Given the description of an element on the screen output the (x, y) to click on. 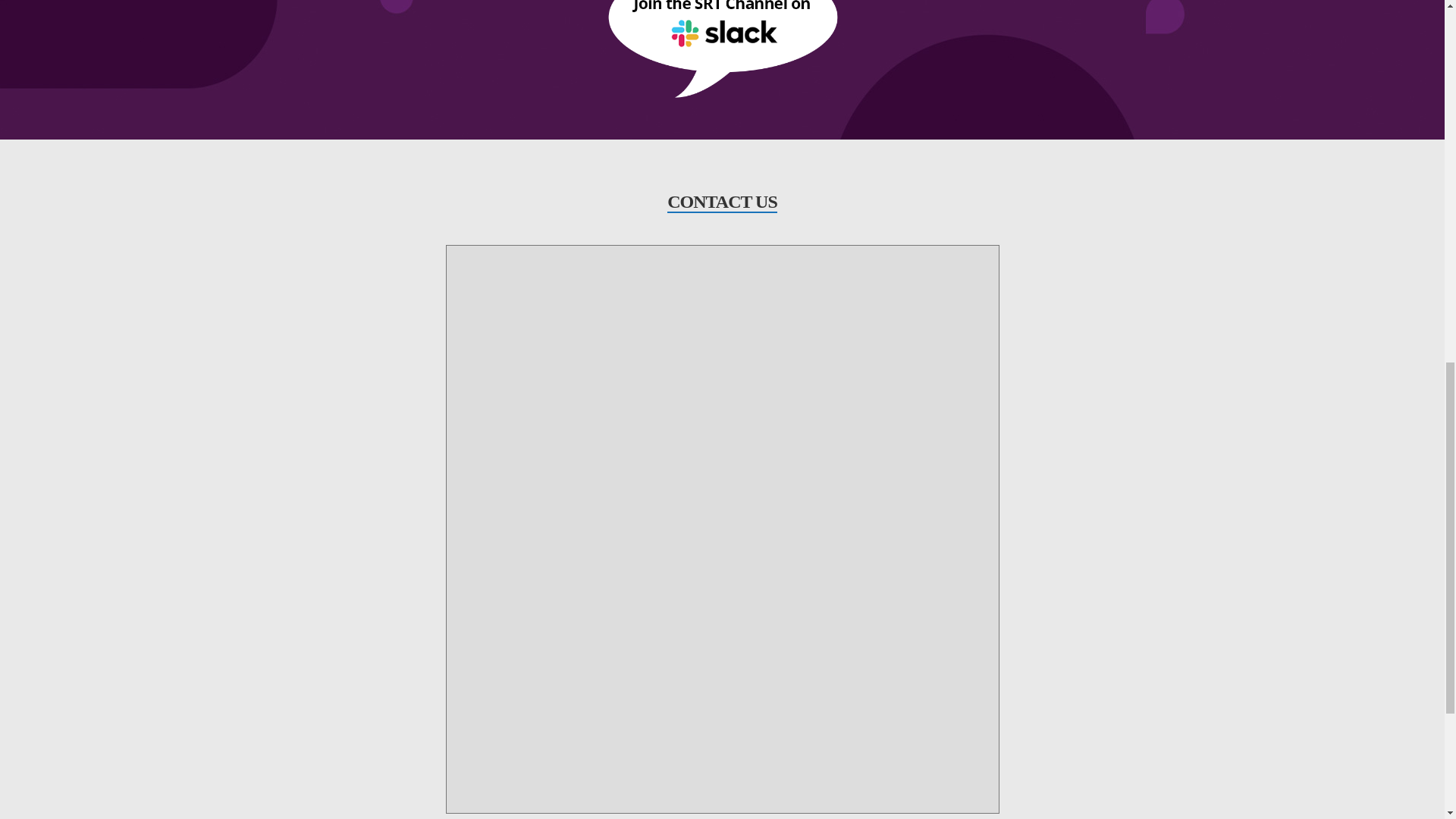
slack channel (721, 29)
